Given the description of an element on the screen output the (x, y) to click on. 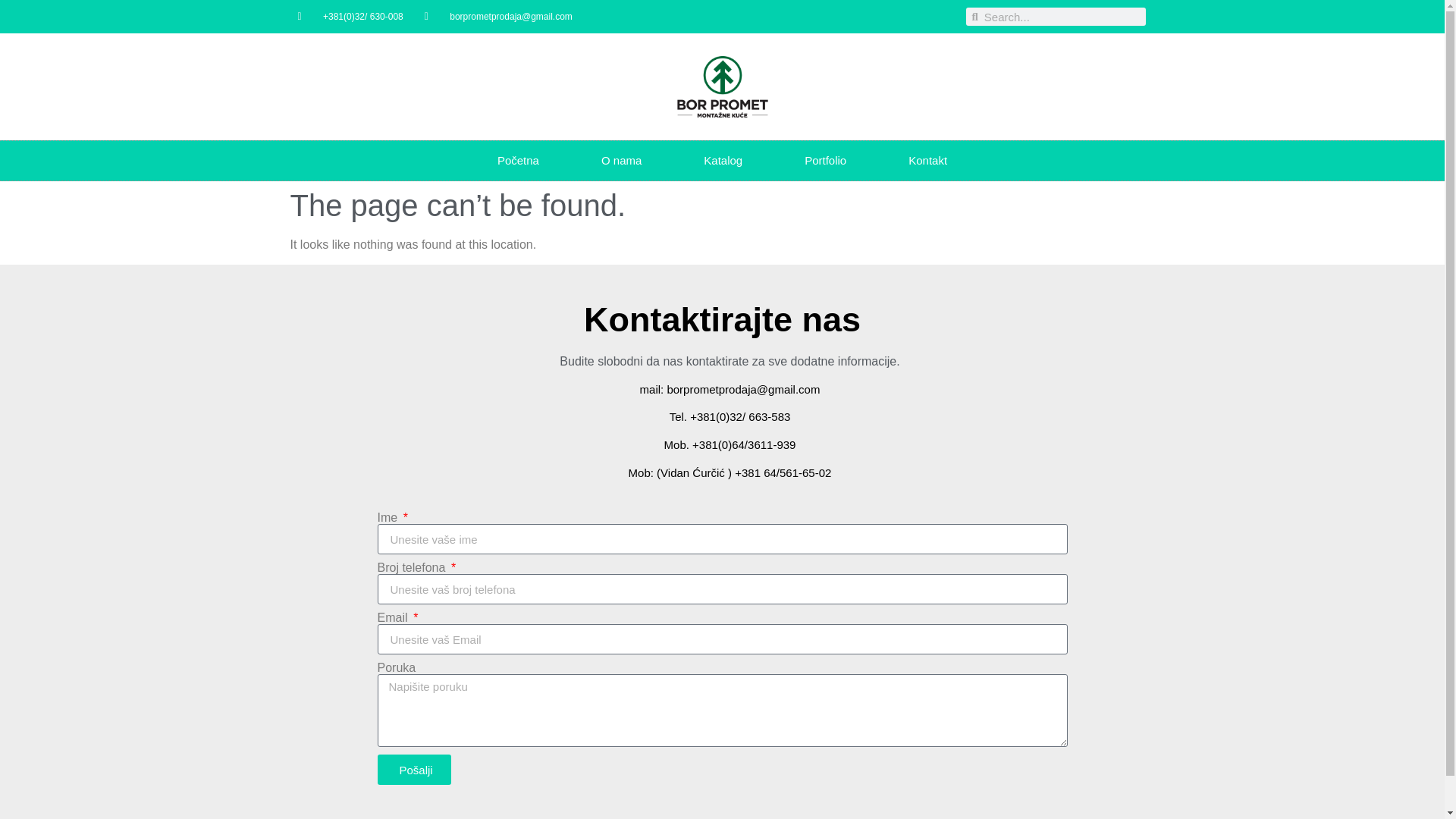
Kontakt (927, 160)
Katalog (722, 160)
Portfolio (825, 160)
O nama (621, 160)
